Given the description of an element on the screen output the (x, y) to click on. 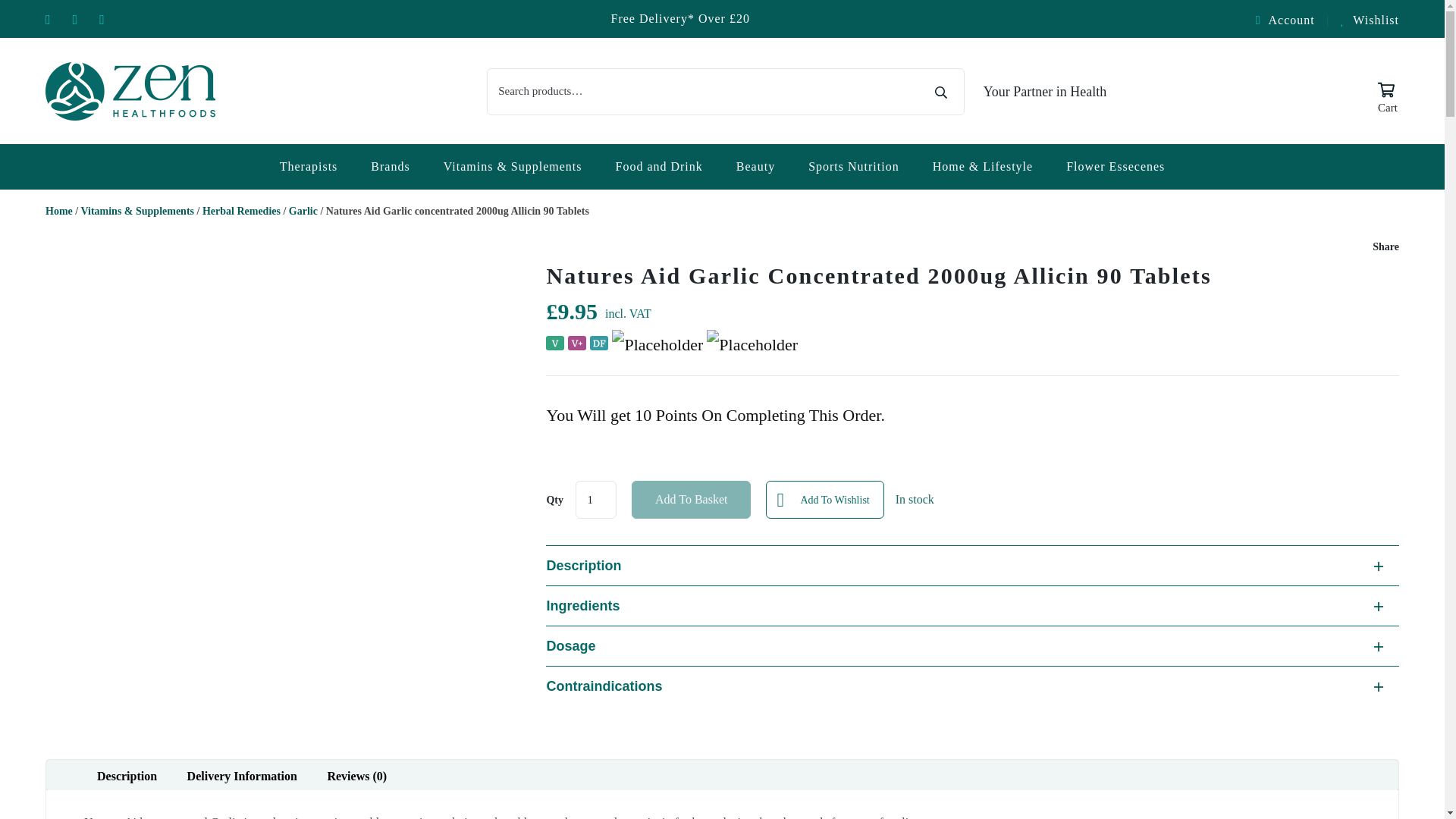
1 (595, 499)
Account (1292, 19)
Therapists (308, 166)
My Basket (1388, 91)
Wishlist (1369, 19)
Search (940, 93)
Brands (390, 166)
